Given the description of an element on the screen output the (x, y) to click on. 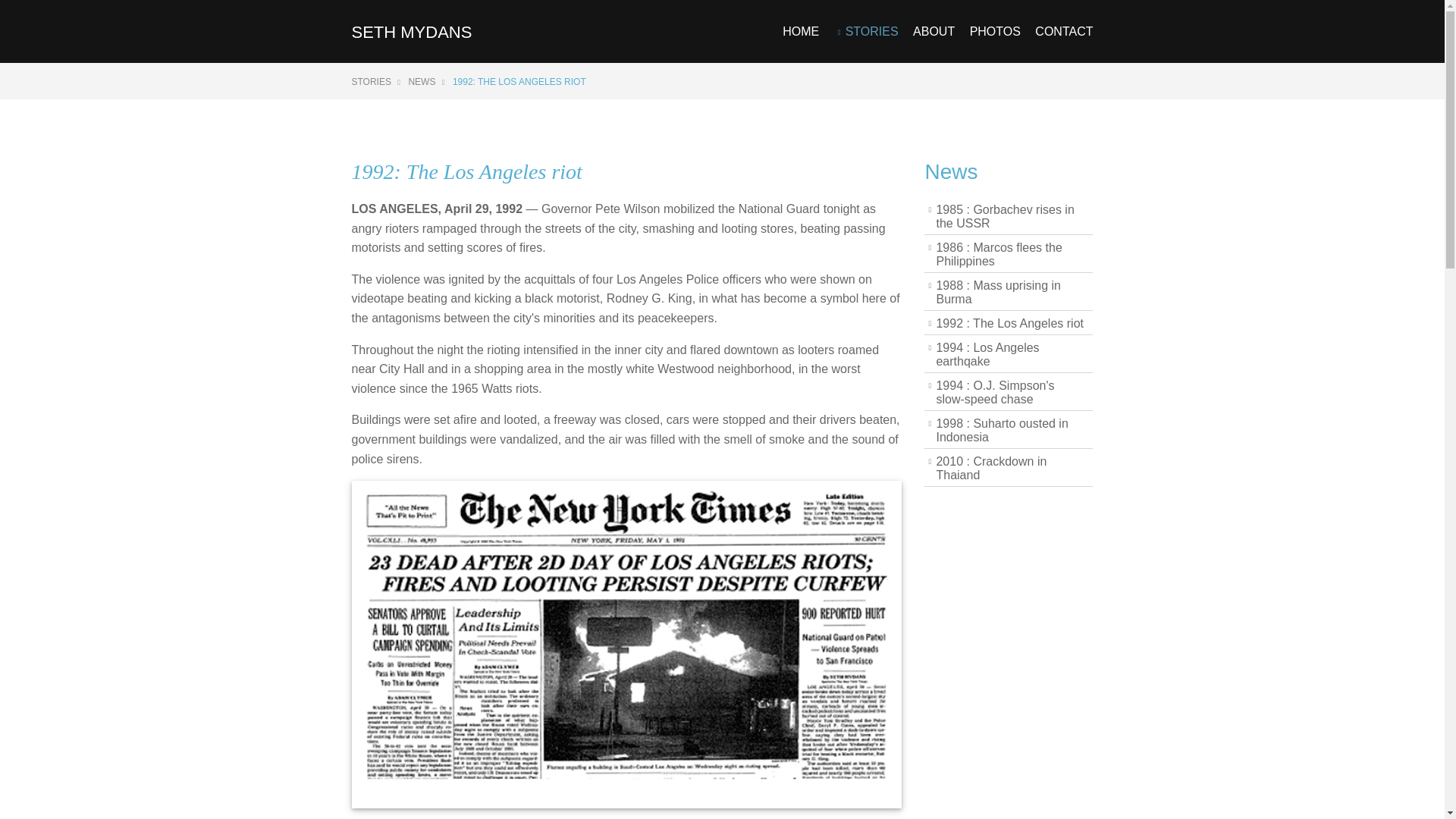
1994 : Los Angeles earthqake (1008, 355)
STORIES (376, 81)
CONTACT (1064, 44)
SETH MYDANS (411, 31)
1988 : Mass uprising in Burma (1008, 293)
News (950, 171)
1992 : The Los Angeles riot (1008, 323)
2010 : Crackdown in Thaiand (1008, 468)
HOME (800, 44)
1985 : Gorbachev rises in the USSR (1008, 217)
1994 : O.J. Simpson's slow-speed chase (1008, 393)
PHOTOS (994, 44)
ABOUT (933, 44)
1992: THE LOS ANGELES RIOT (519, 81)
1998 : Suharto ousted in Indonesia (1008, 430)
